Given the description of an element on the screen output the (x, y) to click on. 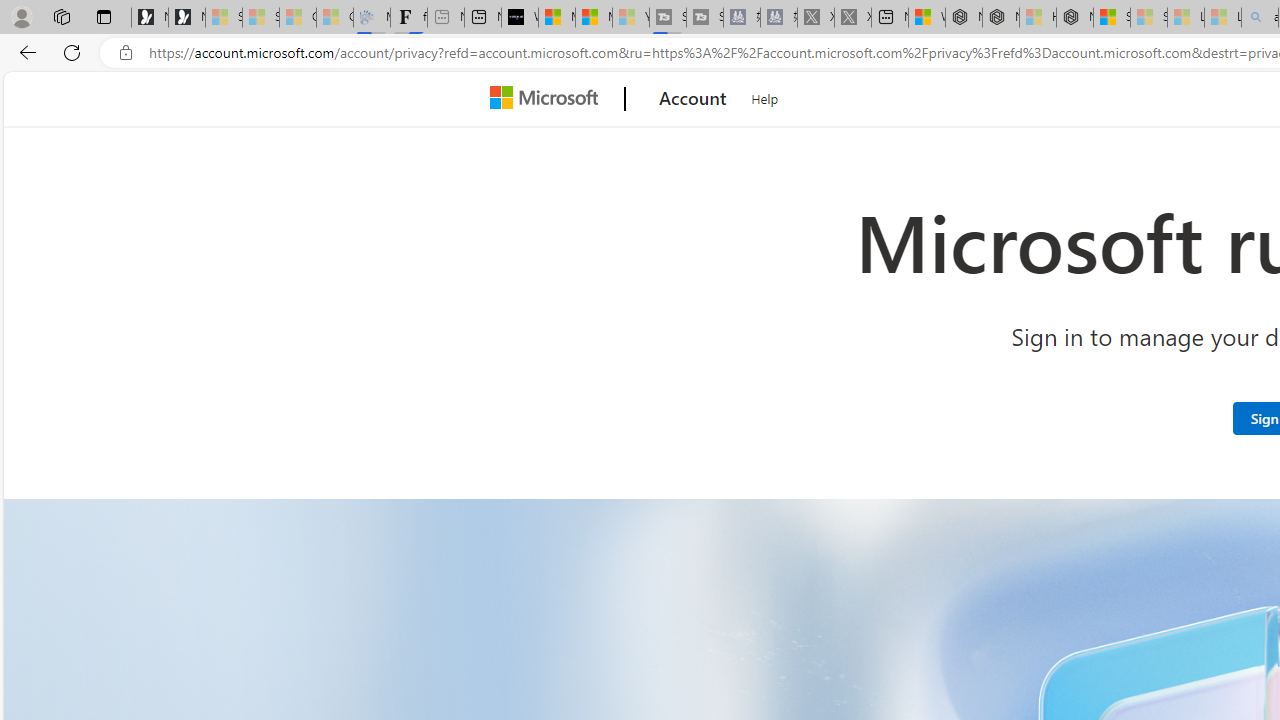
Nordace - Nordace Siena Is Not An Ordinary Backpack (1075, 17)
Microsoft Start Sports (556, 17)
